Given the description of an element on the screen output the (x, y) to click on. 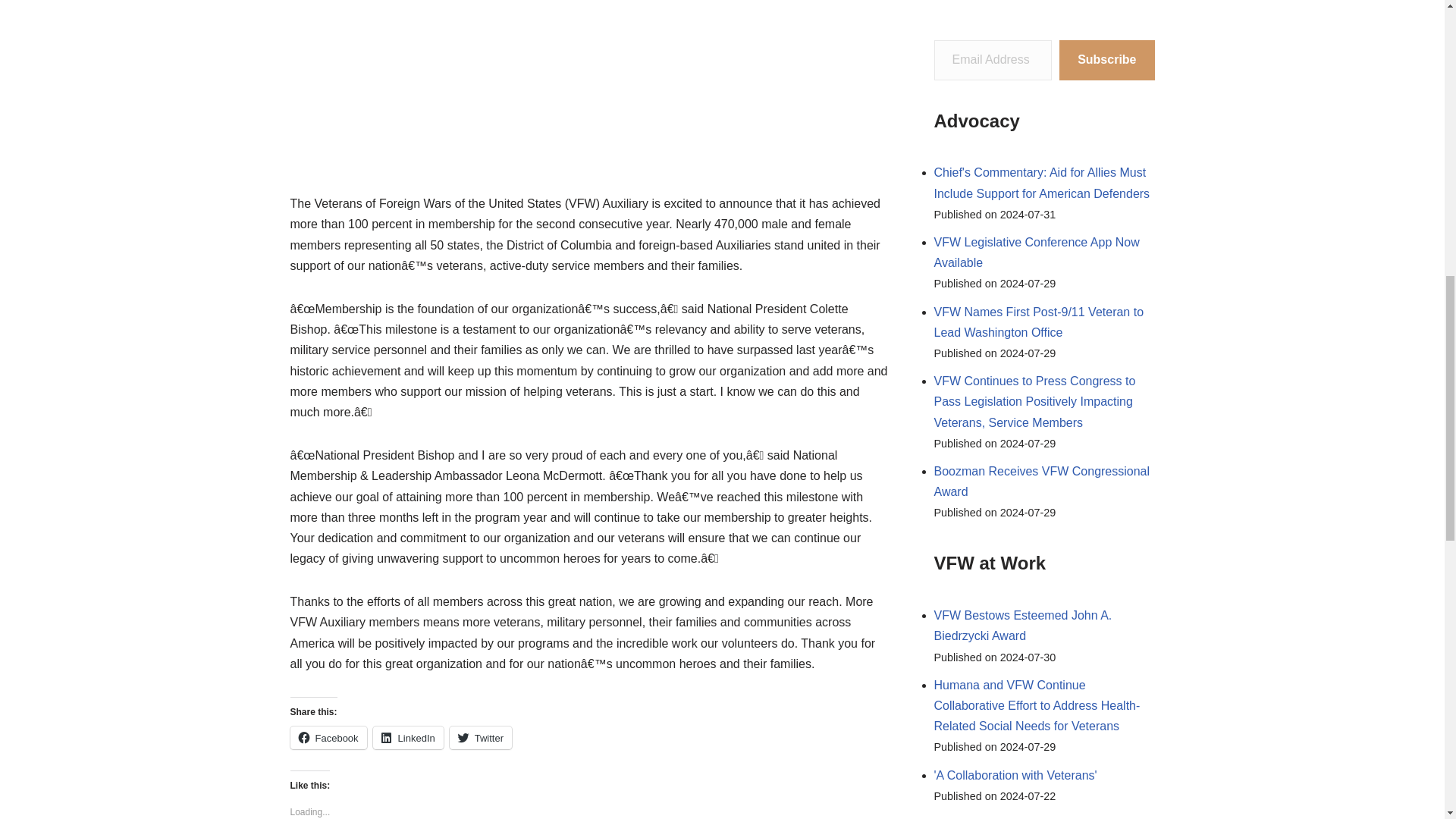
Click to share on Facebook (327, 737)
Please fill in this field. (993, 60)
Click to share on LinkedIn (408, 737)
Click to share on Twitter (480, 737)
